Given the description of an element on the screen output the (x, y) to click on. 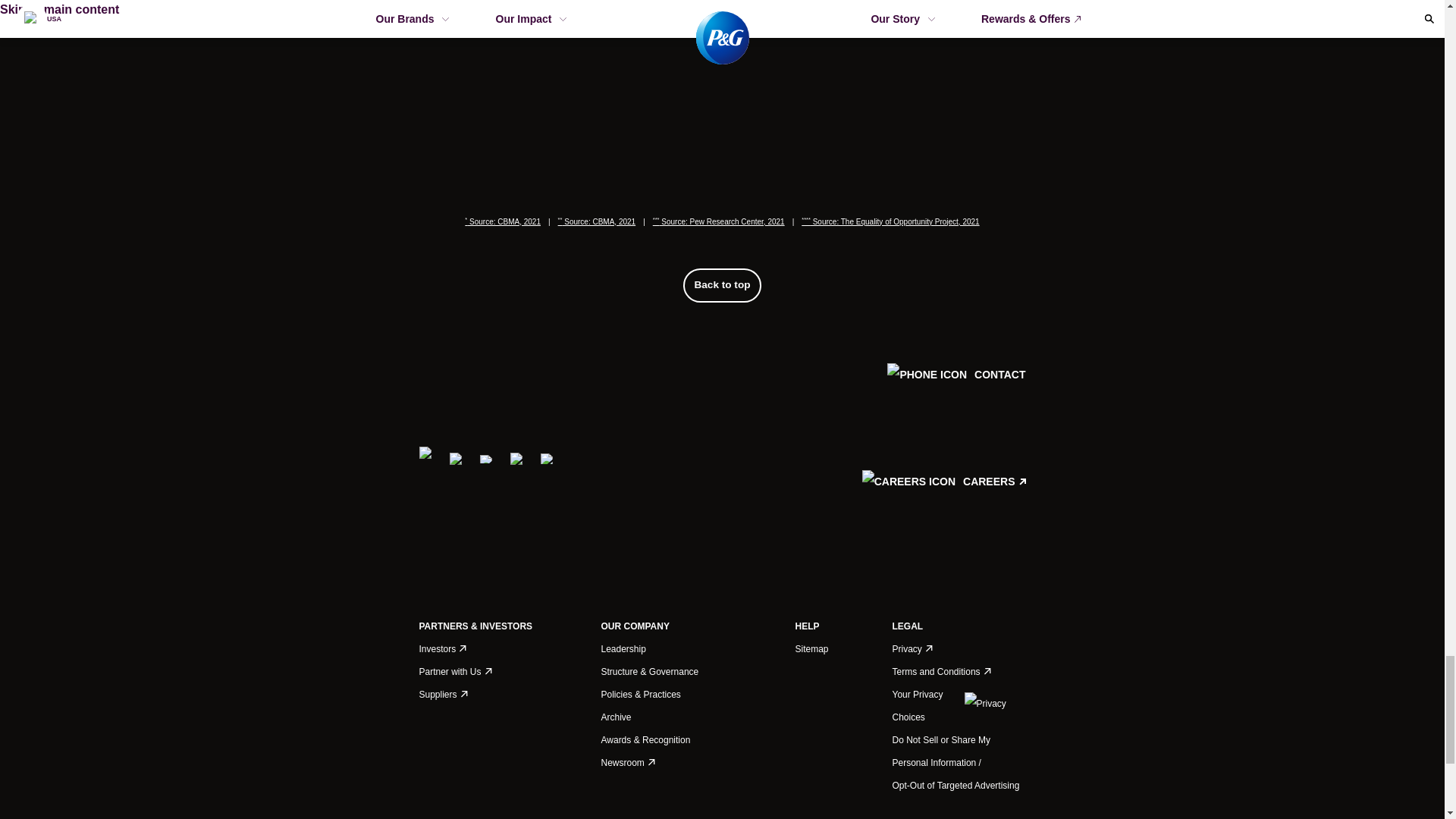
www.pgcareers.com (943, 512)
